Given the description of an element on the screen output the (x, y) to click on. 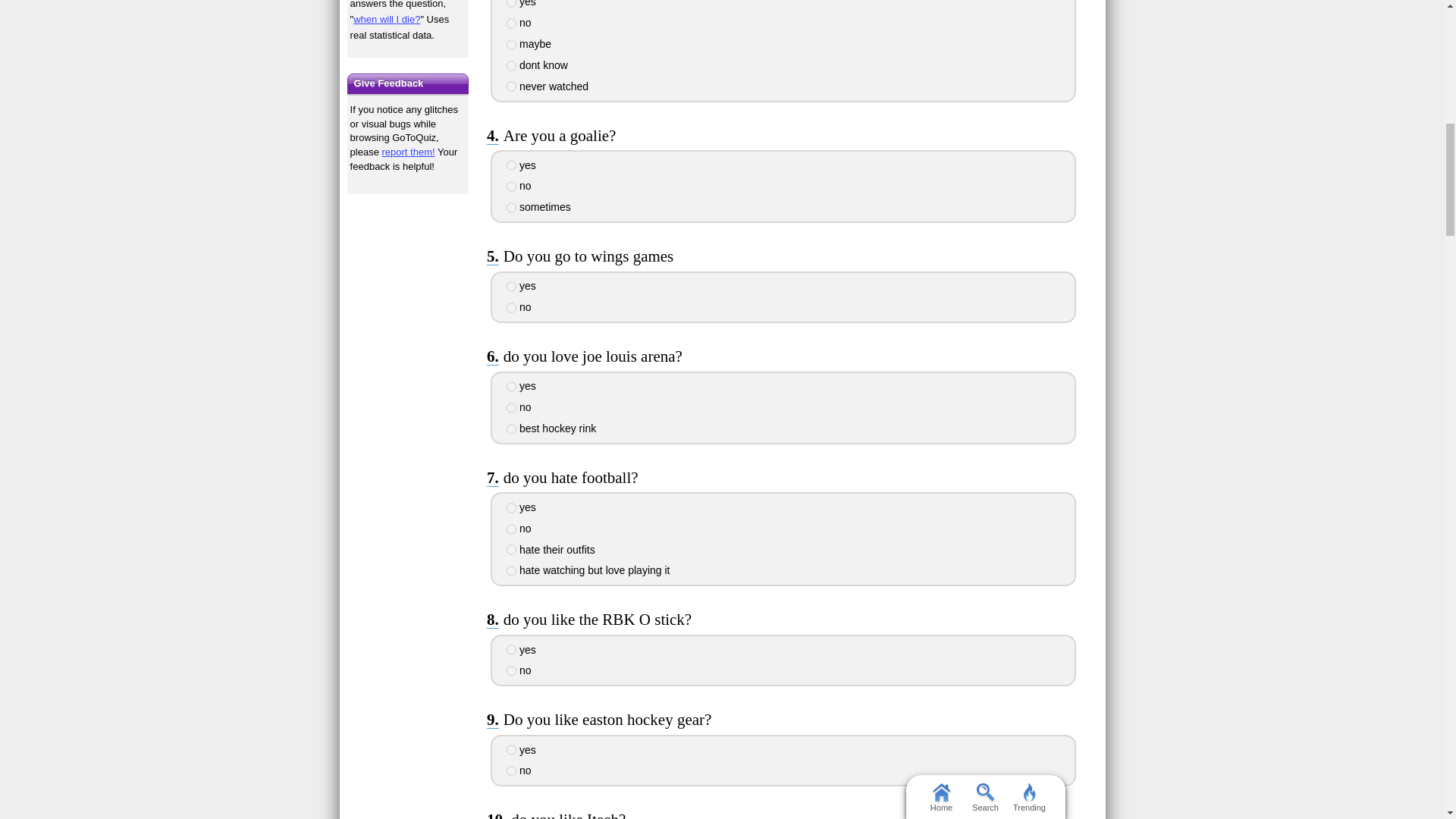
2 (511, 185)
report them! (408, 152)
2 (511, 23)
2 (511, 307)
1 (511, 3)
5 (511, 86)
1 (511, 286)
1 (511, 386)
3 (511, 44)
3 (511, 207)
